Given the description of an element on the screen output the (x, y) to click on. 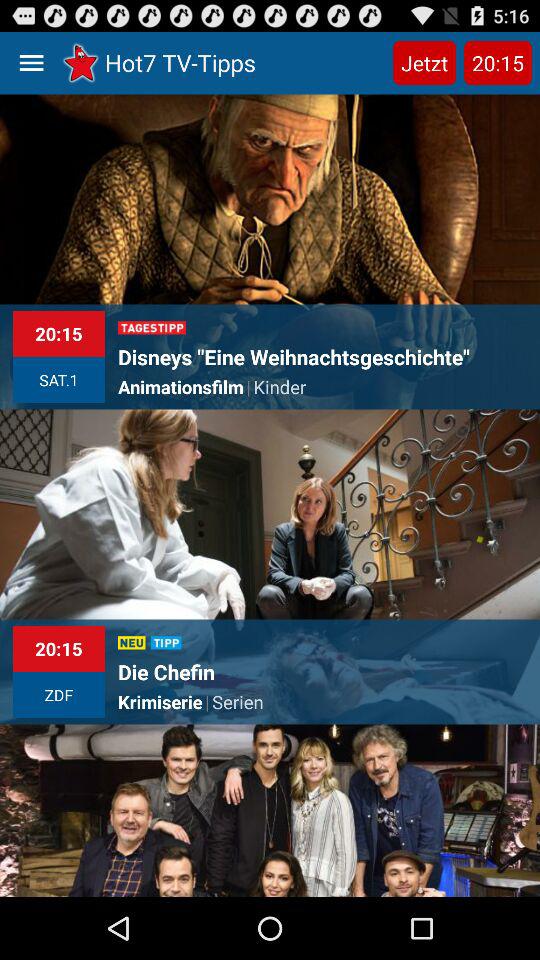
choose the icon next to the hot7 tv-tipps item (424, 62)
